Given the description of an element on the screen output the (x, y) to click on. 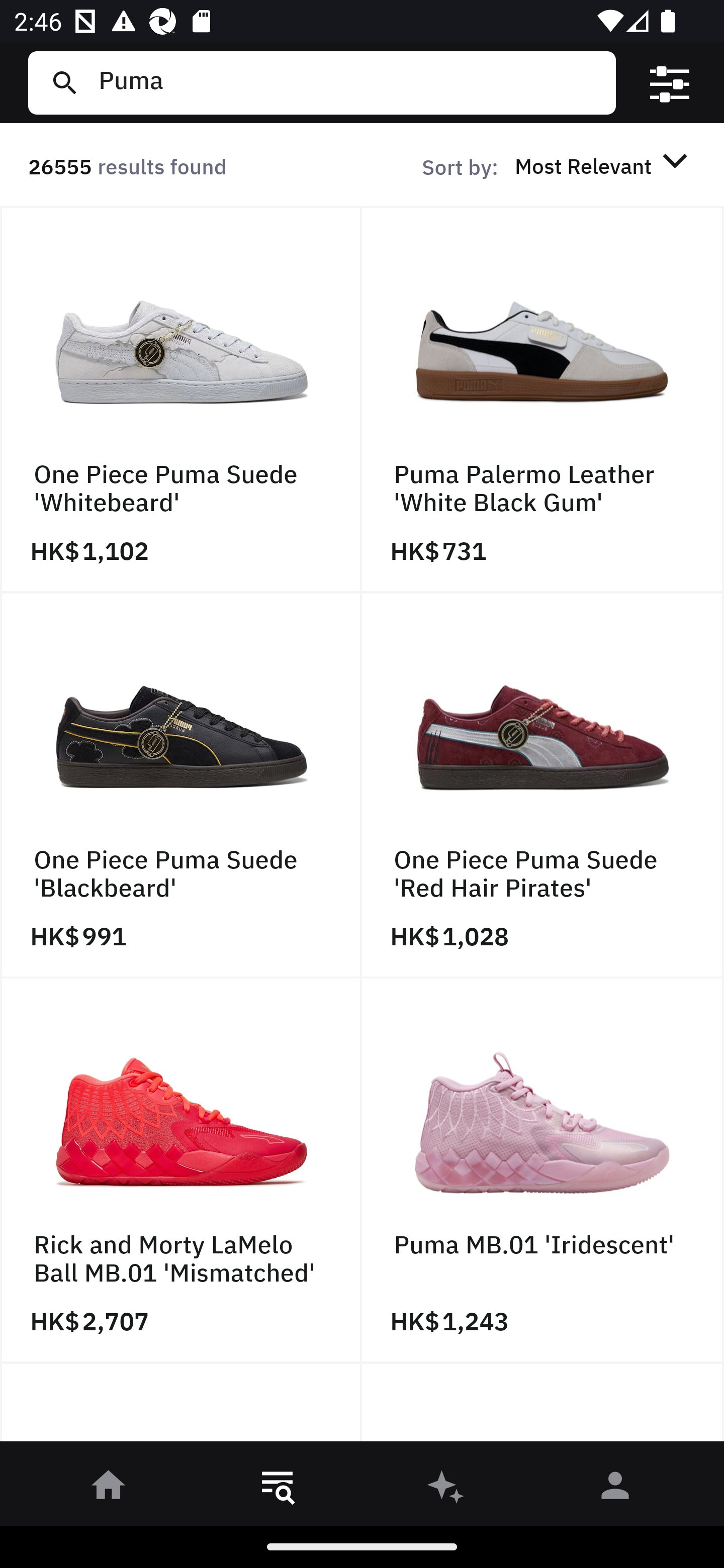
Puma (349, 82)
 (669, 82)
Most Relevant  (604, 165)
One Piece Puma Suede 'Whitebeard' HK$ 1,102 (181, 399)
Puma Palermo Leather 'White Black Gum' HK$ 731 (543, 399)
One Piece Puma Suede 'Blackbeard' HK$ 991 (181, 785)
One Piece Puma Suede 'Red Hair Pirates' HK$ 1,028 (543, 785)
Puma MB.01 'Iridescent' HK$ 1,243 (543, 1171)
󰋜 (108, 1488)
󱎸 (277, 1488)
󰫢 (446, 1488)
󰀄 (615, 1488)
